Given the description of an element on the screen output the (x, y) to click on. 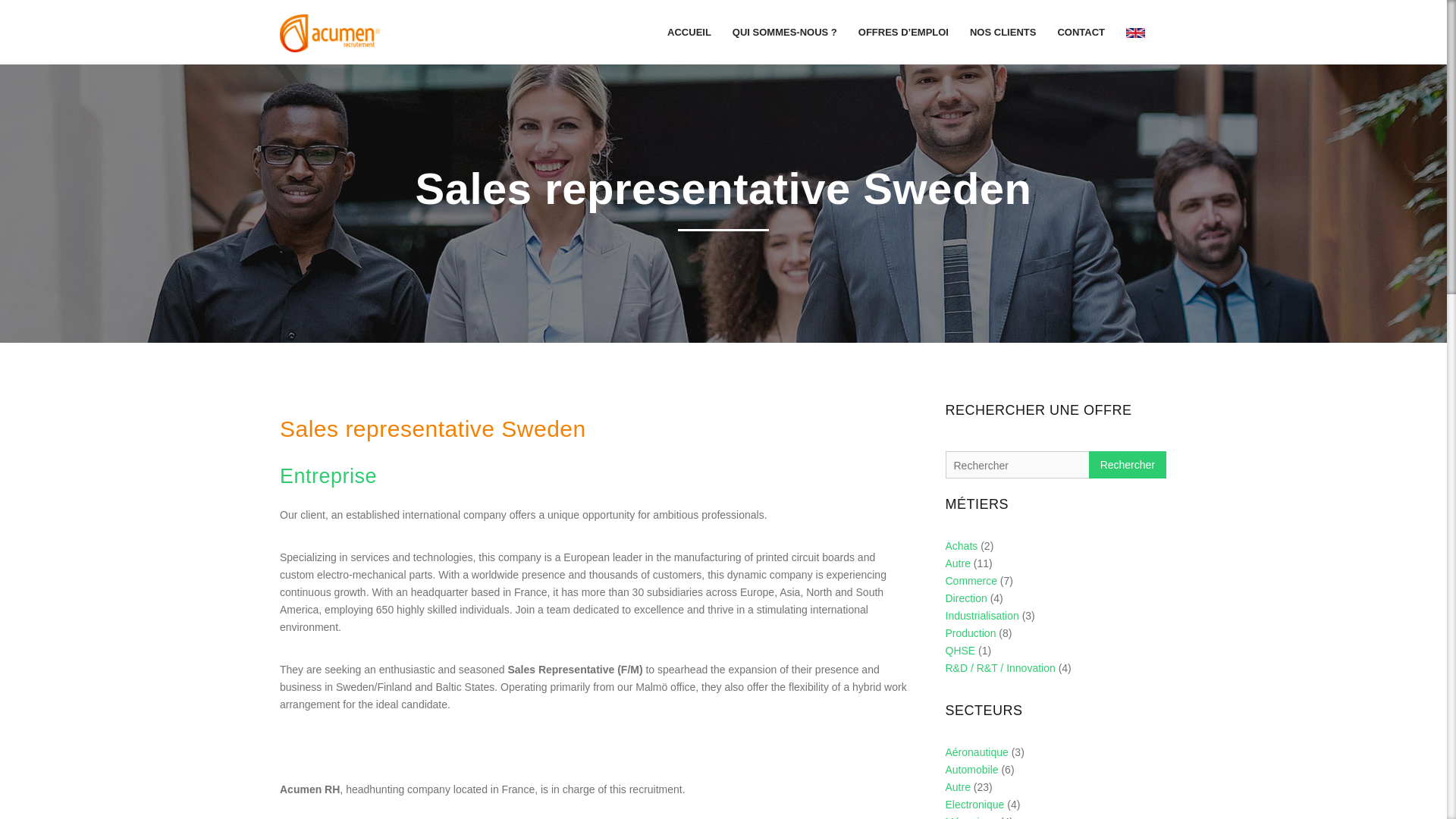
NOS CLIENTS (1002, 32)
ACCUEIL (689, 32)
Autre (956, 787)
Industrialisation (980, 615)
CONTACT (1080, 32)
Electronique (974, 804)
Rechercher (1127, 464)
Achats (960, 545)
Direction (965, 598)
QUI SOMMES-NOUS ? (784, 32)
